Given the description of an element on the screen output the (x, y) to click on. 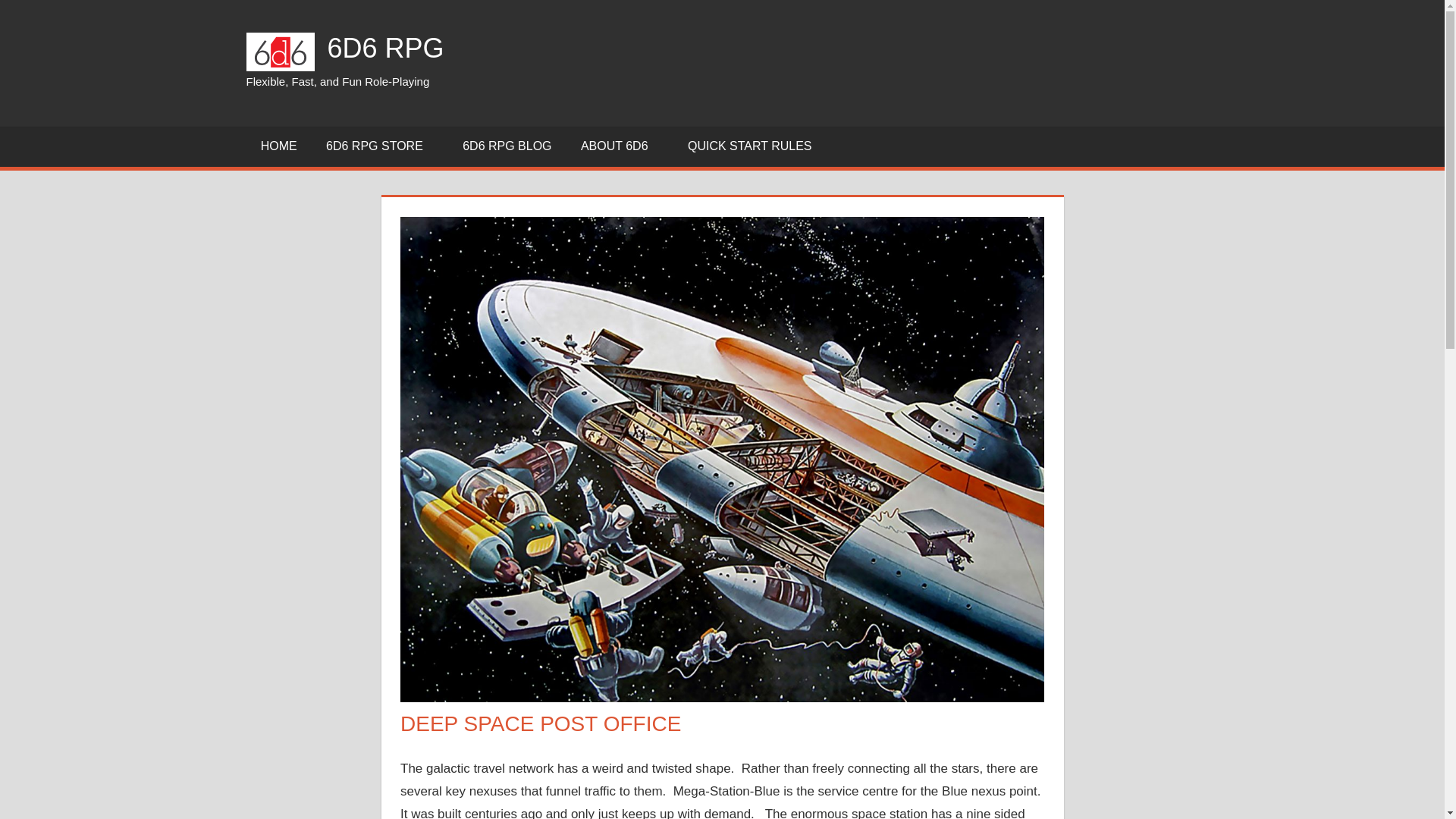
HOME (278, 146)
6D6 RPG BLOG (507, 146)
ABOUT 6D6 (619, 146)
6D6 RPG (385, 47)
6D6 RPG STORE (379, 146)
QUICK START RULES (754, 146)
